Given the description of an element on the screen output the (x, y) to click on. 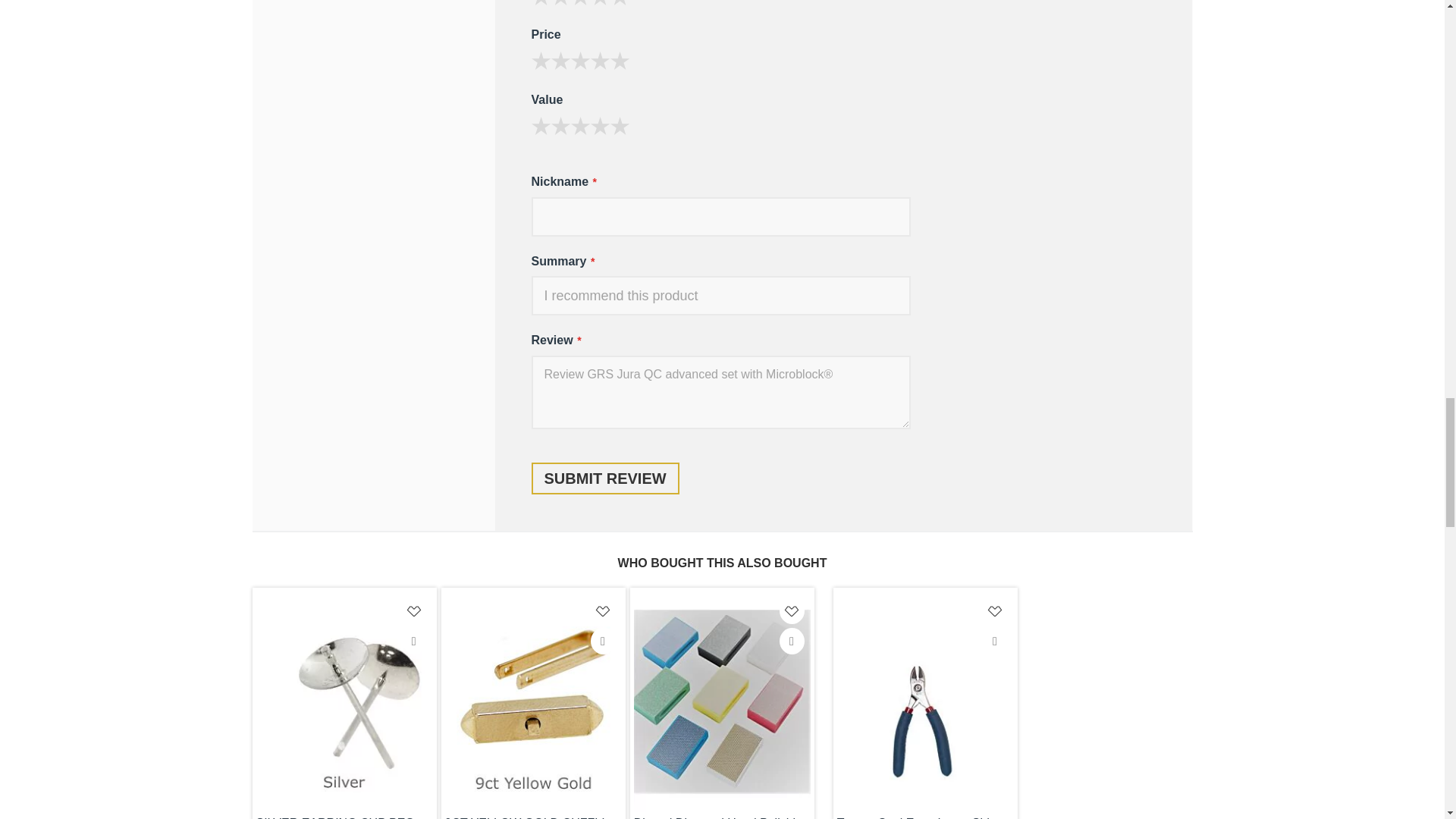
15 (537, 57)
I recommend this product (720, 295)
14 (537, 57)
13 (537, 57)
12 (537, 57)
6 (537, 122)
9 (537, 122)
8 (537, 122)
11 (537, 57)
7 (537, 122)
10 (537, 122)
